Given the description of an element on the screen output the (x, y) to click on. 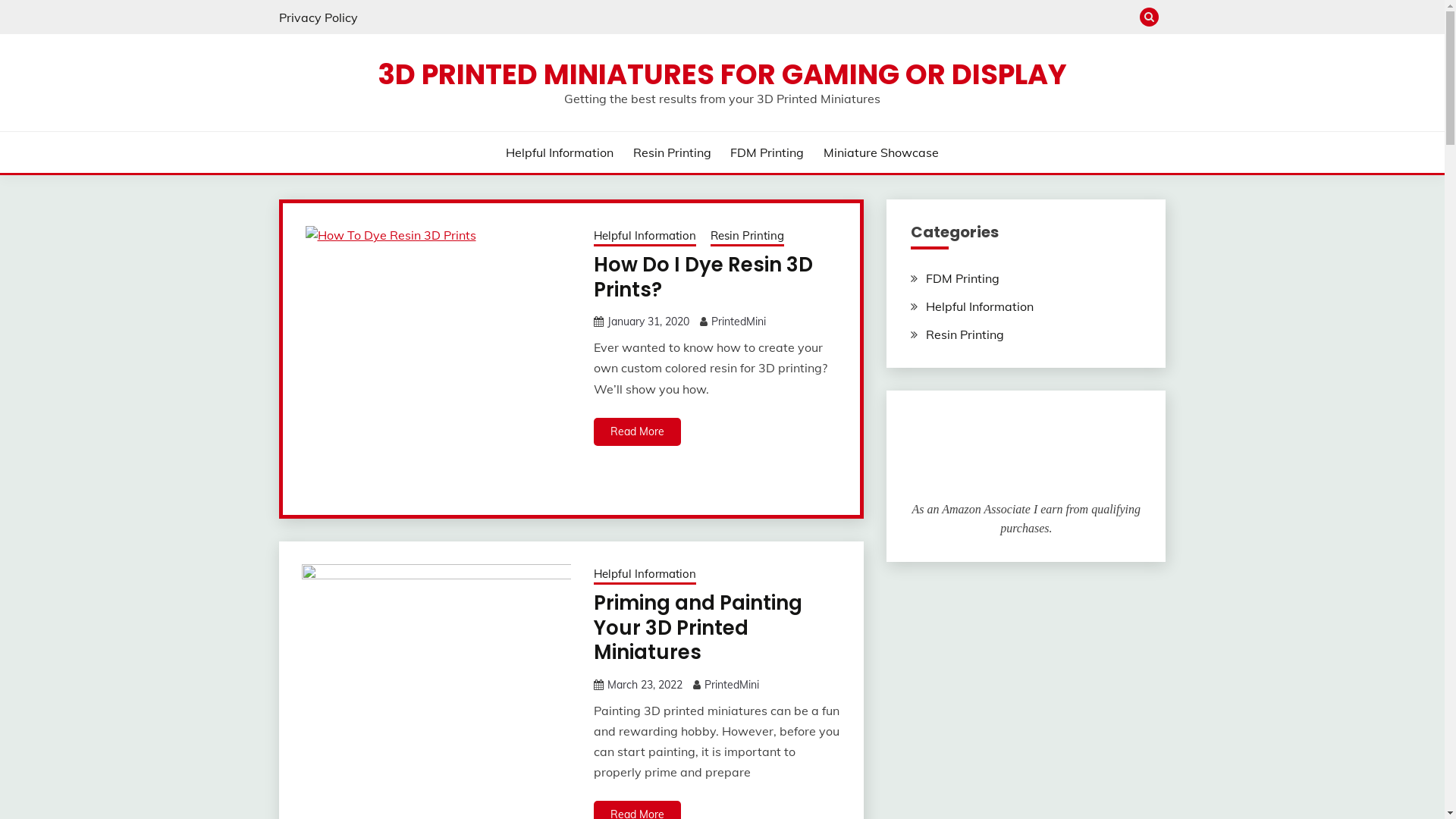
PrintedMini Element type: text (731, 684)
Resin Printing Element type: text (672, 152)
Search Element type: text (832, 18)
Helpful Information Element type: text (559, 152)
Read More Element type: text (636, 431)
Privacy Policy Element type: text (318, 16)
3D PRINTED MINIATURES FOR GAMING OR DISPLAY Element type: text (721, 74)
Resin Printing Element type: text (964, 334)
January 31, 2020 Element type: text (648, 321)
PrintedMini Element type: text (738, 321)
Helpful Information Element type: text (644, 237)
March 23, 2022 Element type: text (644, 684)
Helpful Information Element type: text (644, 575)
FDM Printing Element type: text (766, 152)
Helpful Information Element type: text (979, 305)
Miniature Showcase Element type: text (880, 152)
FDM Printing Element type: text (962, 277)
How Do I Dye Resin 3D Prints? Element type: text (702, 277)
Resin Printing Element type: text (747, 237)
Priming and Painting Your 3D Printed Miniatures Element type: text (697, 627)
